Given the description of an element on the screen output the (x, y) to click on. 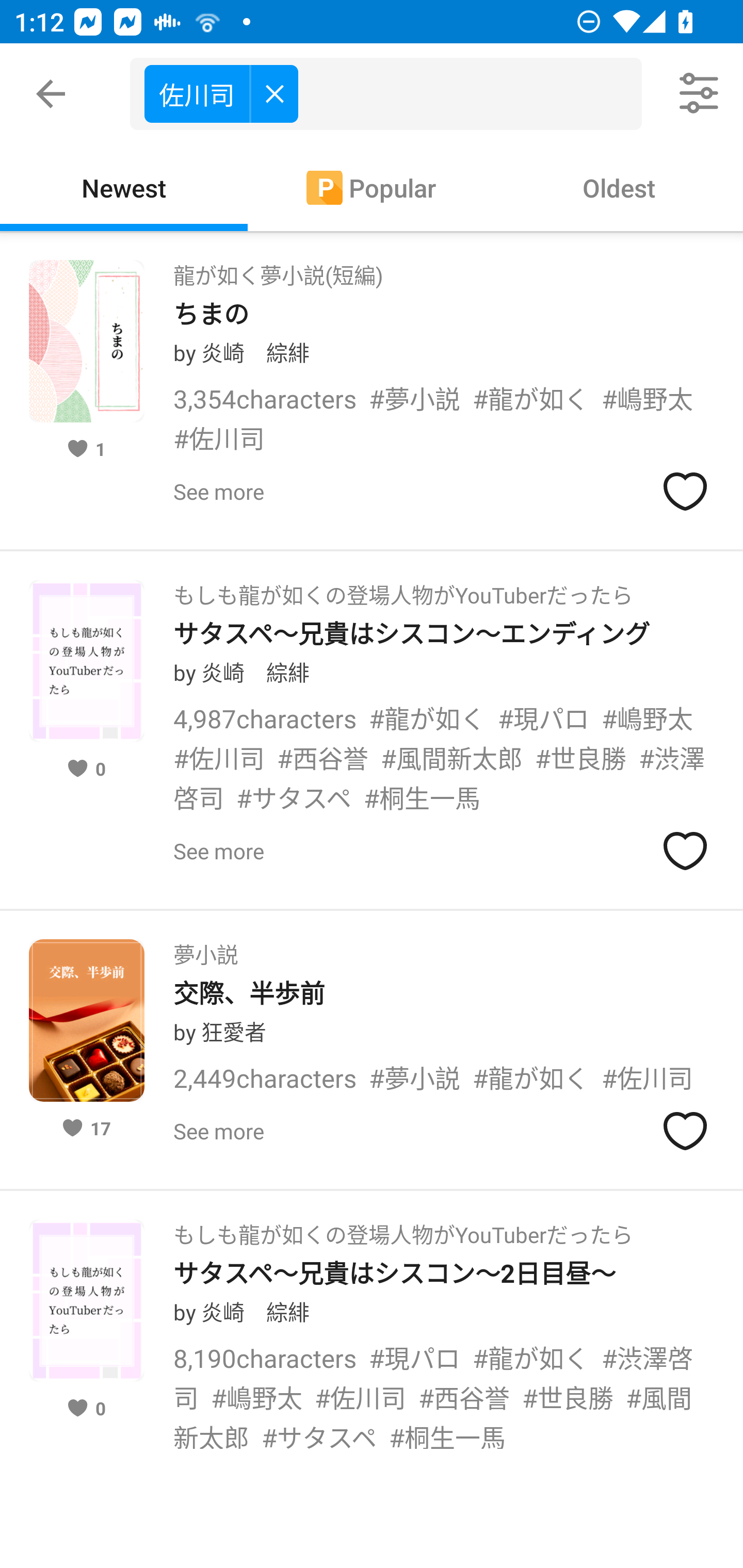
Navigate up (50, 93)
Filters (699, 93)
佐川司 (220, 93)
[P] Popular (371, 187)
Oldest (619, 187)
龍が如く夢小説(短編) (278, 269)
もしも龍が如くの登場人物がYouTuberだったら (403, 589)
夢小説 (205, 948)
もしも龍が如くの登場人物がYouTuberだったら (403, 1228)
